Given the description of an element on the screen output the (x, y) to click on. 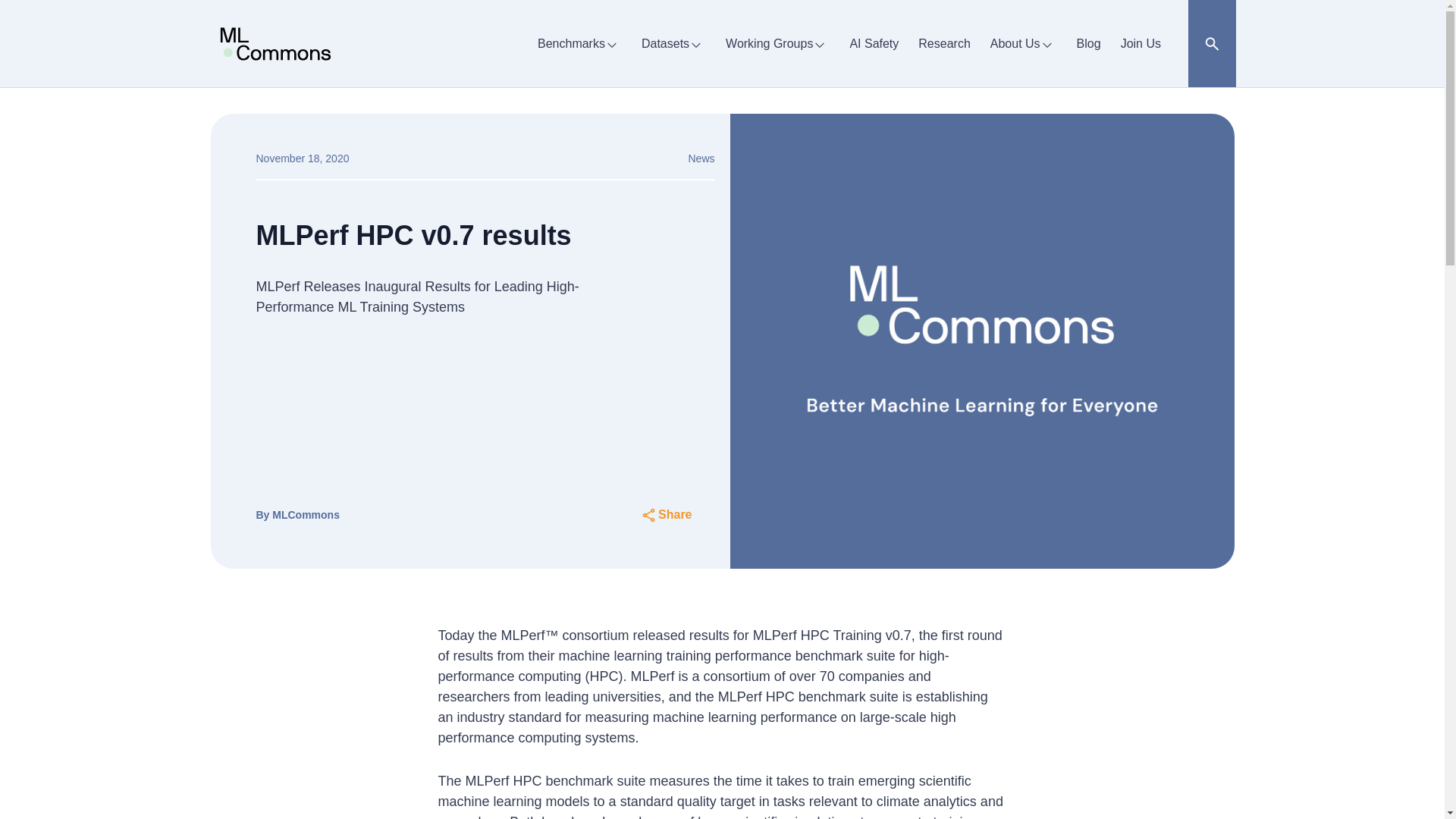
News (700, 158)
Share (665, 514)
Working Groups (777, 43)
Benchmarks (579, 43)
